Given the description of an element on the screen output the (x, y) to click on. 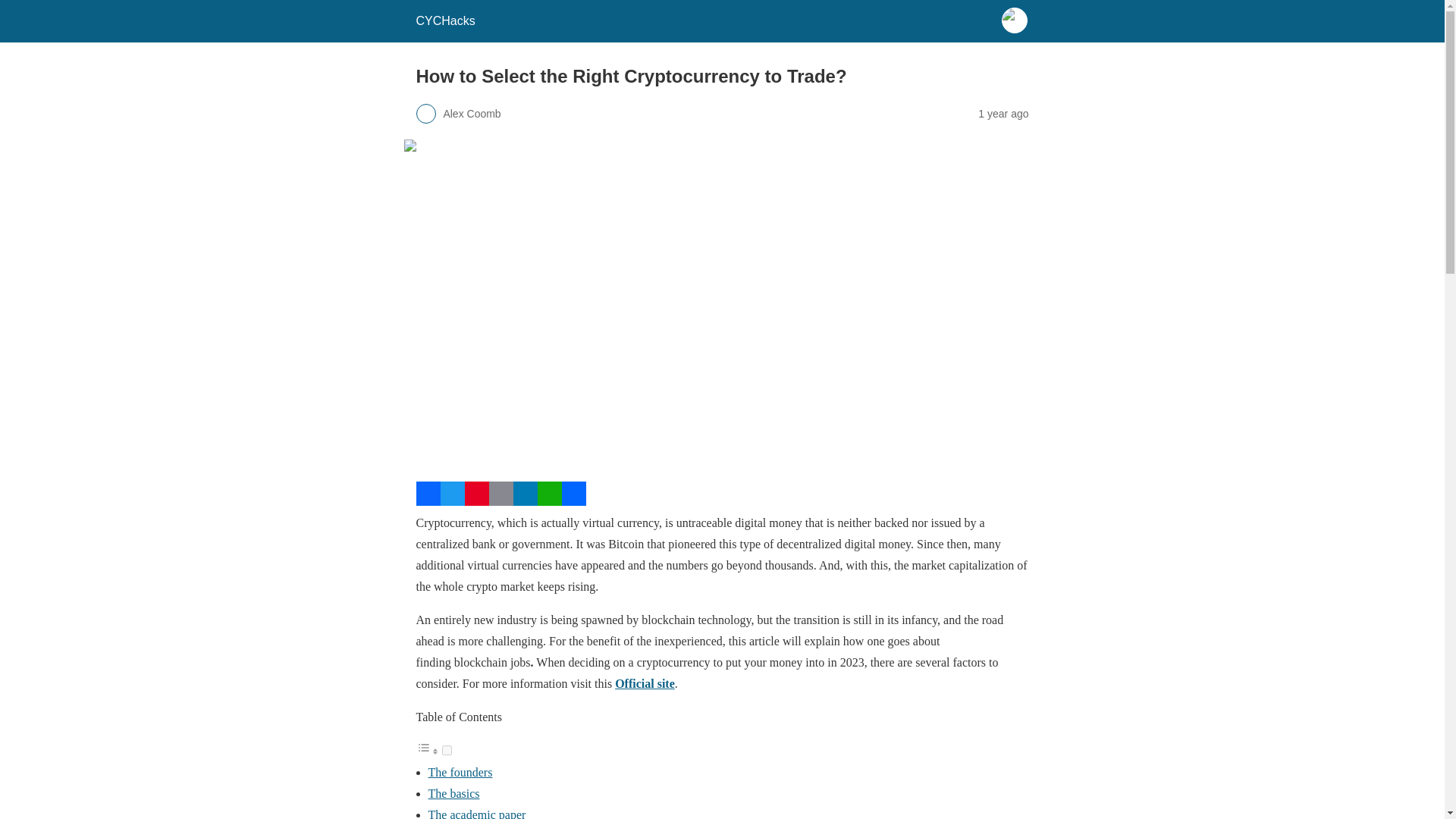
Twitter (451, 501)
The academic paper (476, 813)
The academic paper (476, 813)
The founders (460, 771)
The basics (453, 793)
on (446, 750)
LinkedIn (524, 501)
WhatsApp (548, 501)
The basics (453, 793)
Facebook (426, 501)
